Given the description of an element on the screen output the (x, y) to click on. 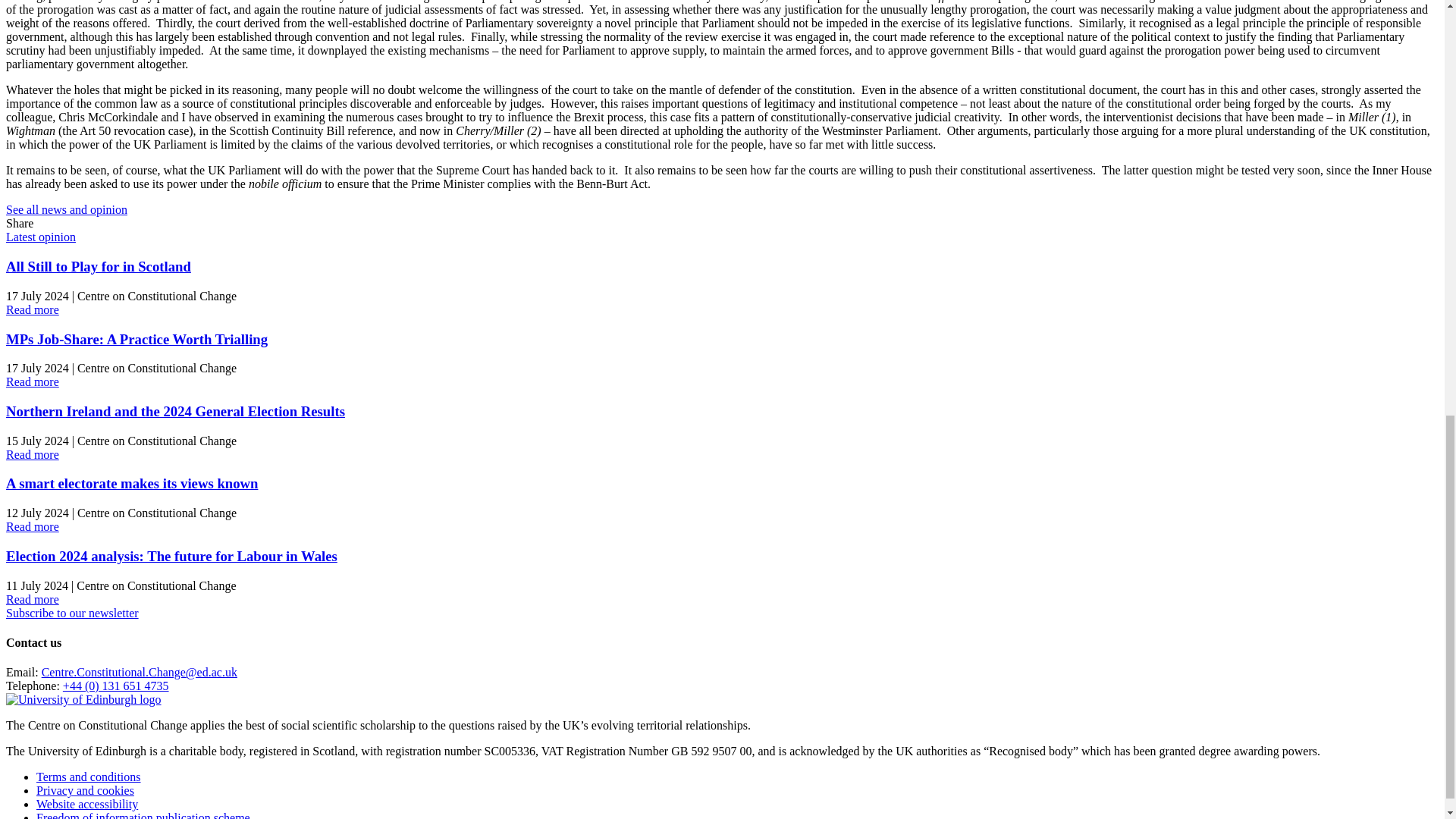
Read more (32, 381)
Read more (32, 599)
Read more (32, 526)
Northern Ireland and the 2024 General Election Results (175, 411)
Read more (32, 309)
Read more (32, 454)
See all news and opinion (66, 209)
Election 2024 analysis: The future for Labour in Wales (171, 555)
MPs Job-Share: A Practice Worth Trialling (136, 339)
A smart electorate makes its views known (131, 483)
